Given the description of an element on the screen output the (x, y) to click on. 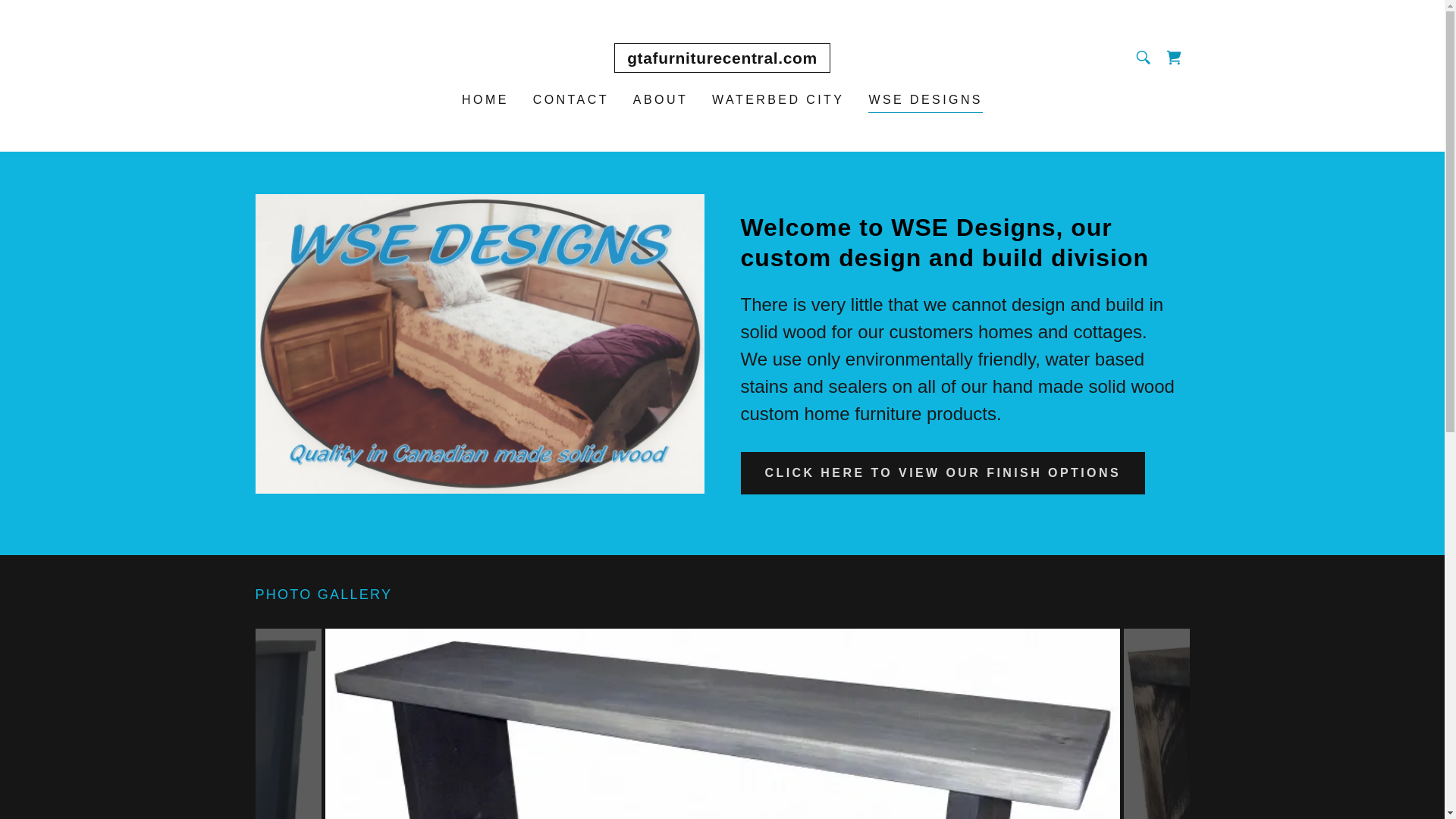
gtafurniturecentral.com (721, 58)
WSE DESIGNS (924, 101)
WATERBED CITY (777, 99)
gtafurniturecentral.com (721, 58)
CONTACT (570, 99)
HOME (485, 99)
CLICK HERE TO VIEW OUR FINISH OPTIONS (941, 473)
ABOUT (660, 99)
